Given the description of an element on the screen output the (x, y) to click on. 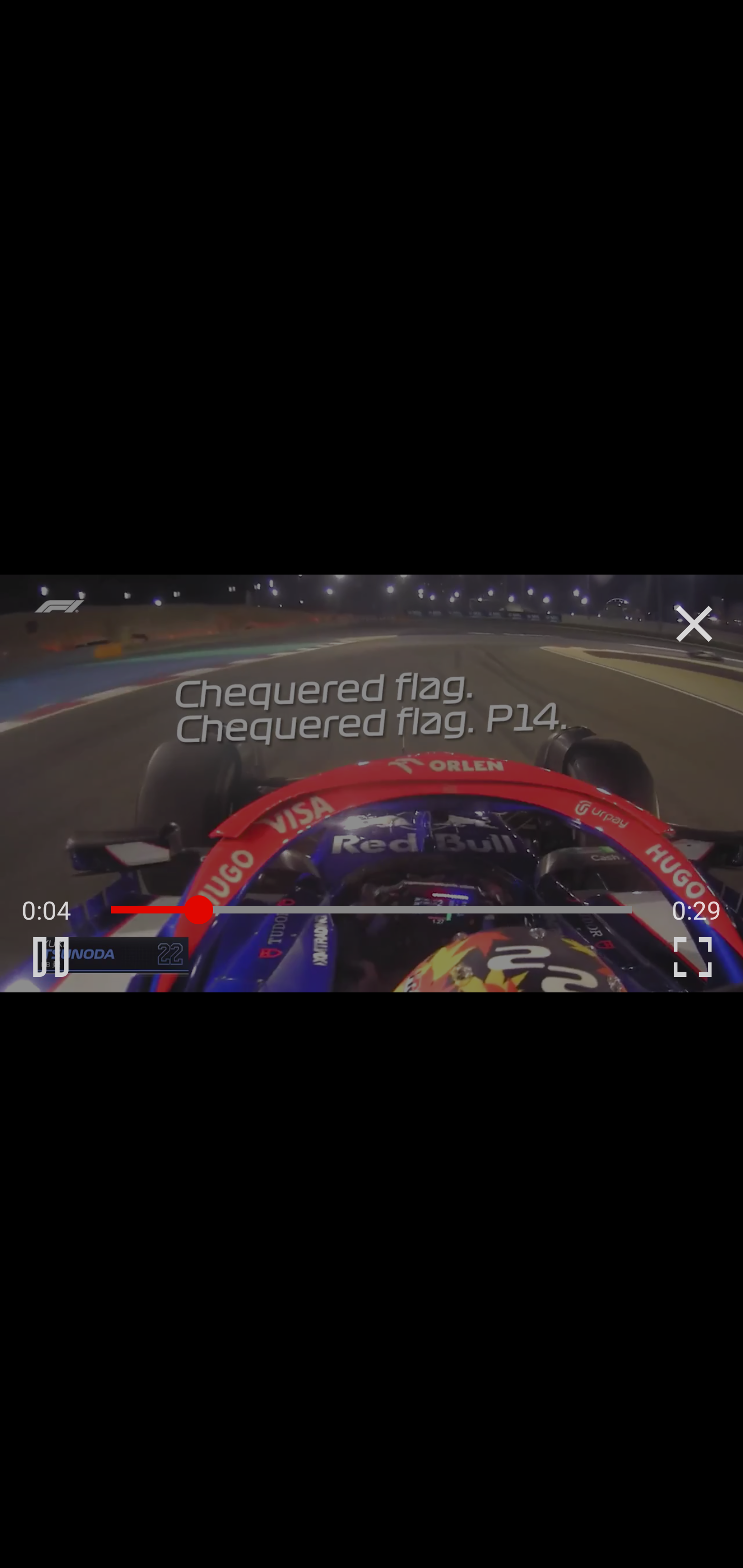
 Close (693, 623)
B Pause (50, 956)
C Enter Fullscreen (692, 956)
